Given the description of an element on the screen output the (x, y) to click on. 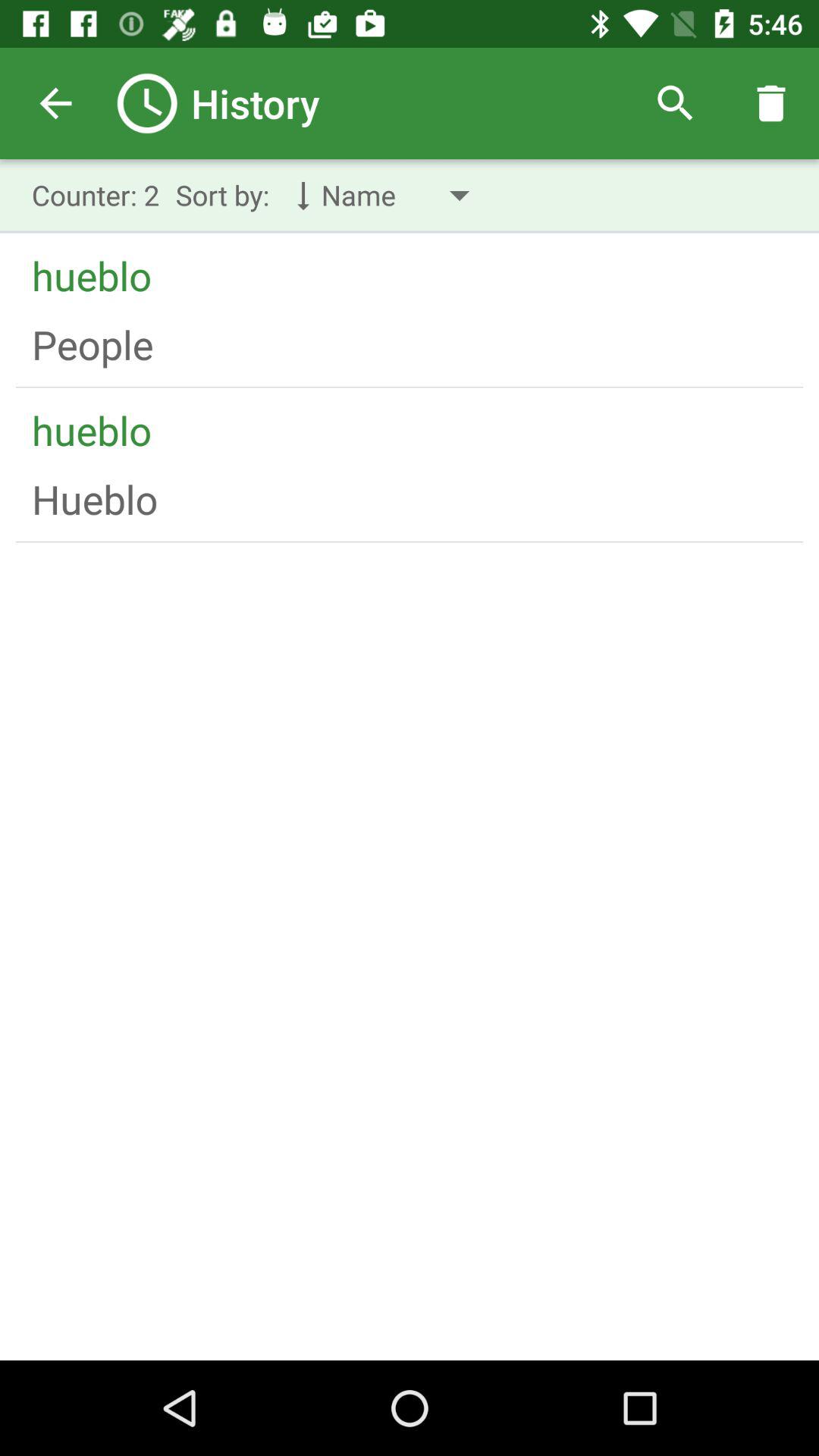
select the drop down with text name (388, 194)
click on the delete icon which is at the right top corner (771, 103)
